Given the description of an element on the screen output the (x, y) to click on. 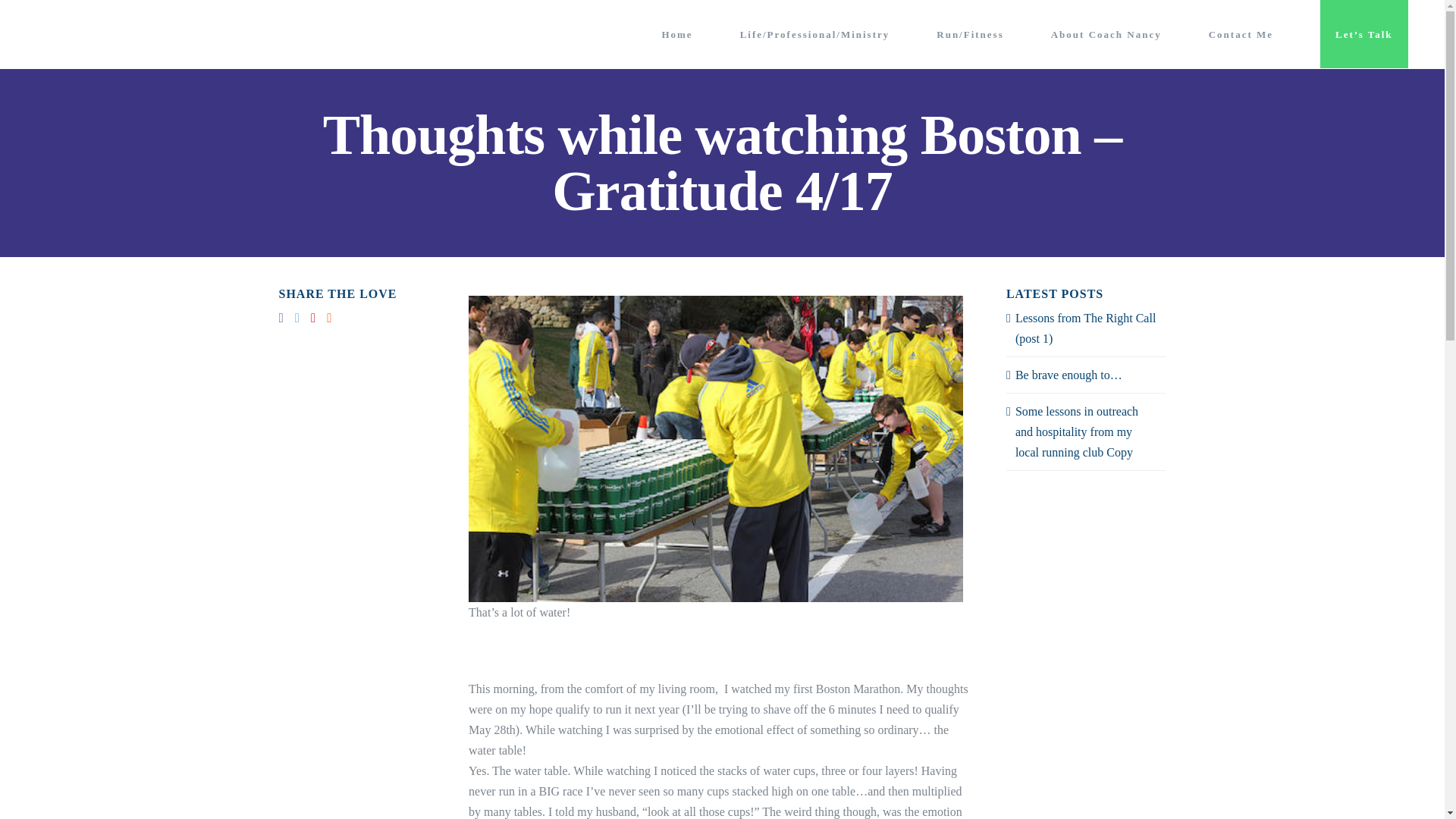
Contact Me (1240, 33)
About Coach Nancy (1106, 33)
